Given the description of an element on the screen output the (x, y) to click on. 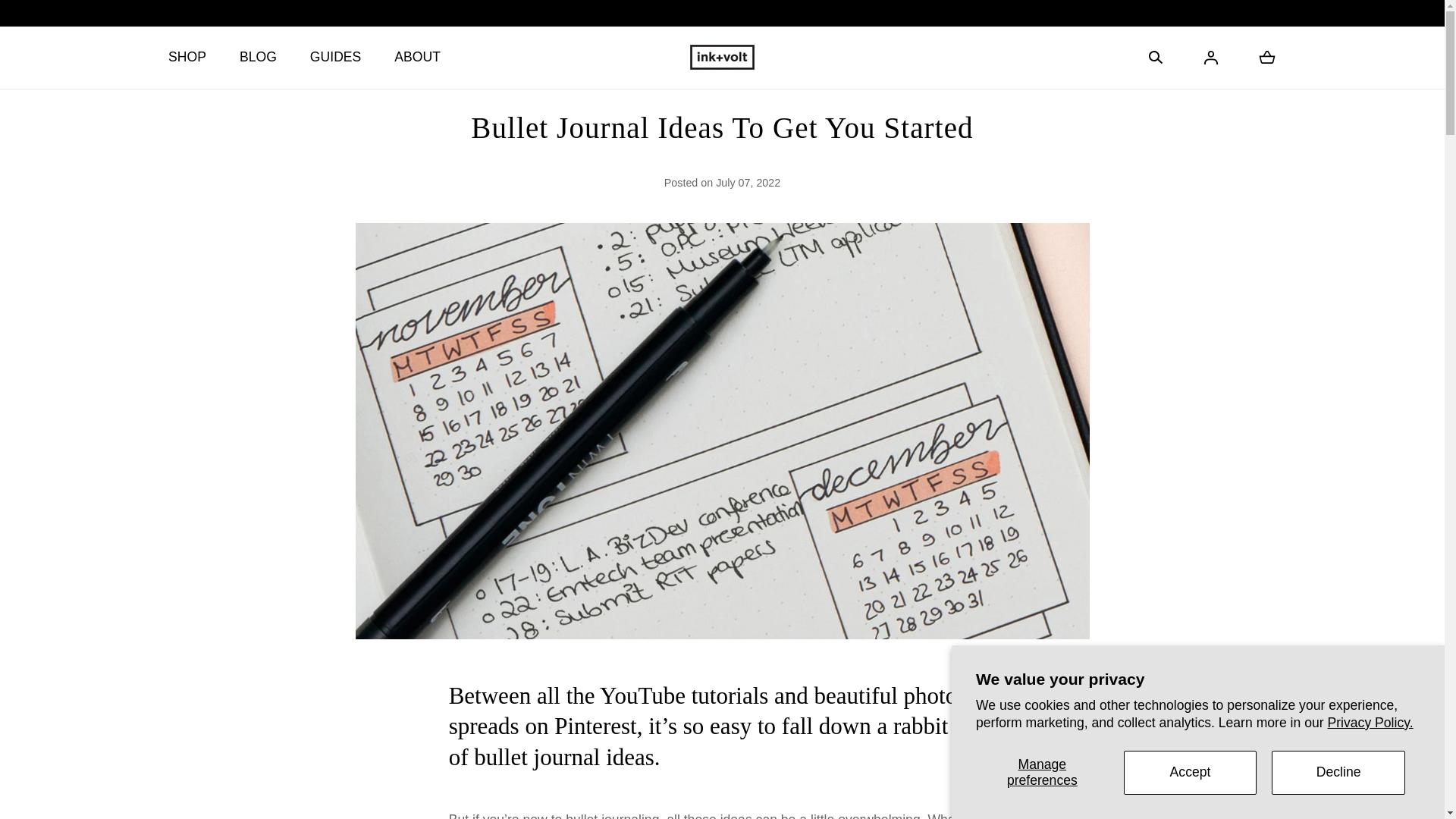
Accept (1190, 772)
Decline (1338, 772)
Manage preferences (1041, 772)
Privacy Policy. (1370, 722)
SKIP TO CONTENT (88, 20)
